Given the description of an element on the screen output the (x, y) to click on. 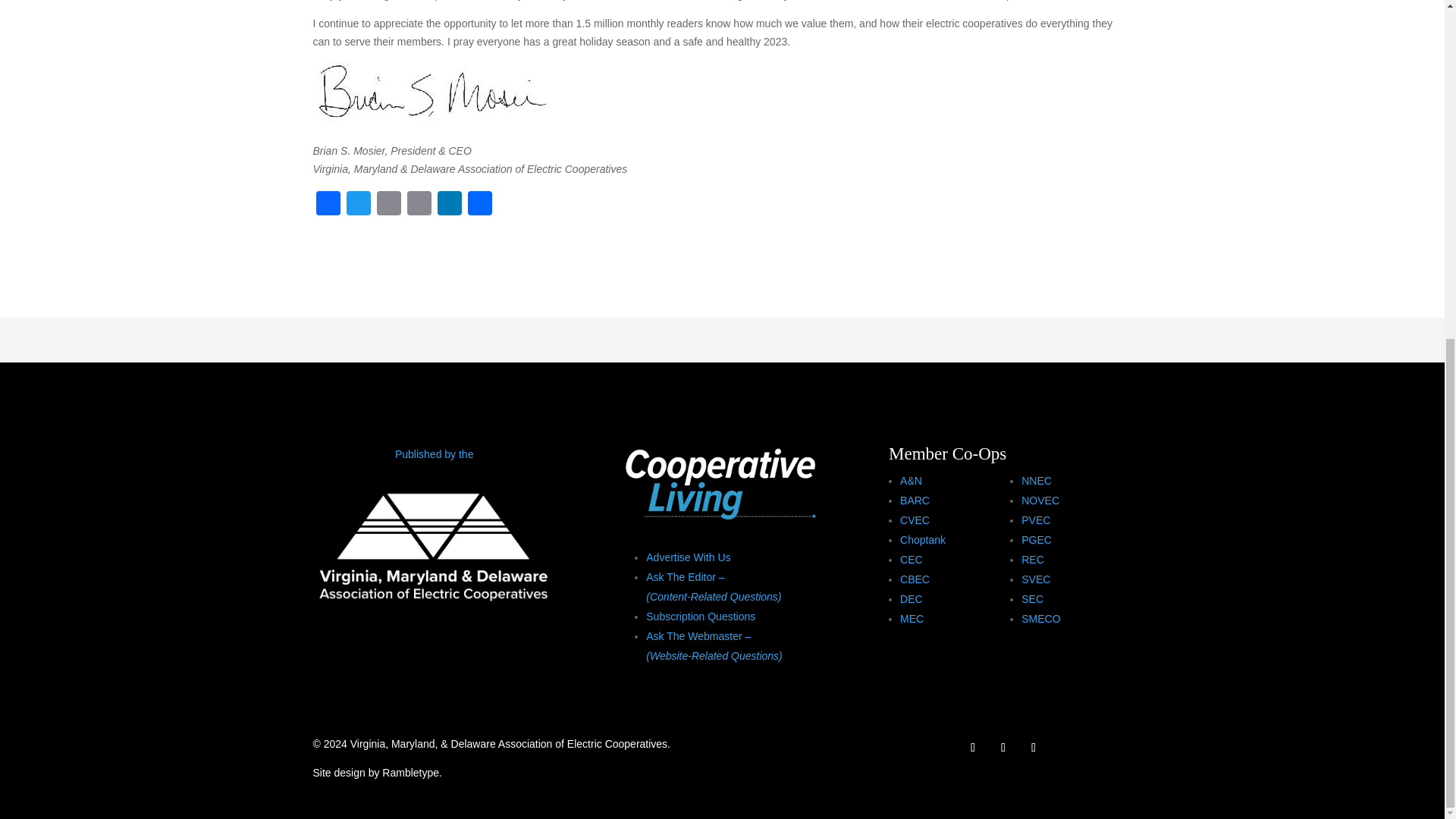
Print (418, 204)
LinkedIn (448, 204)
Facebook (327, 204)
Email (387, 204)
Twitter (357, 204)
